Given the description of an element on the screen output the (x, y) to click on. 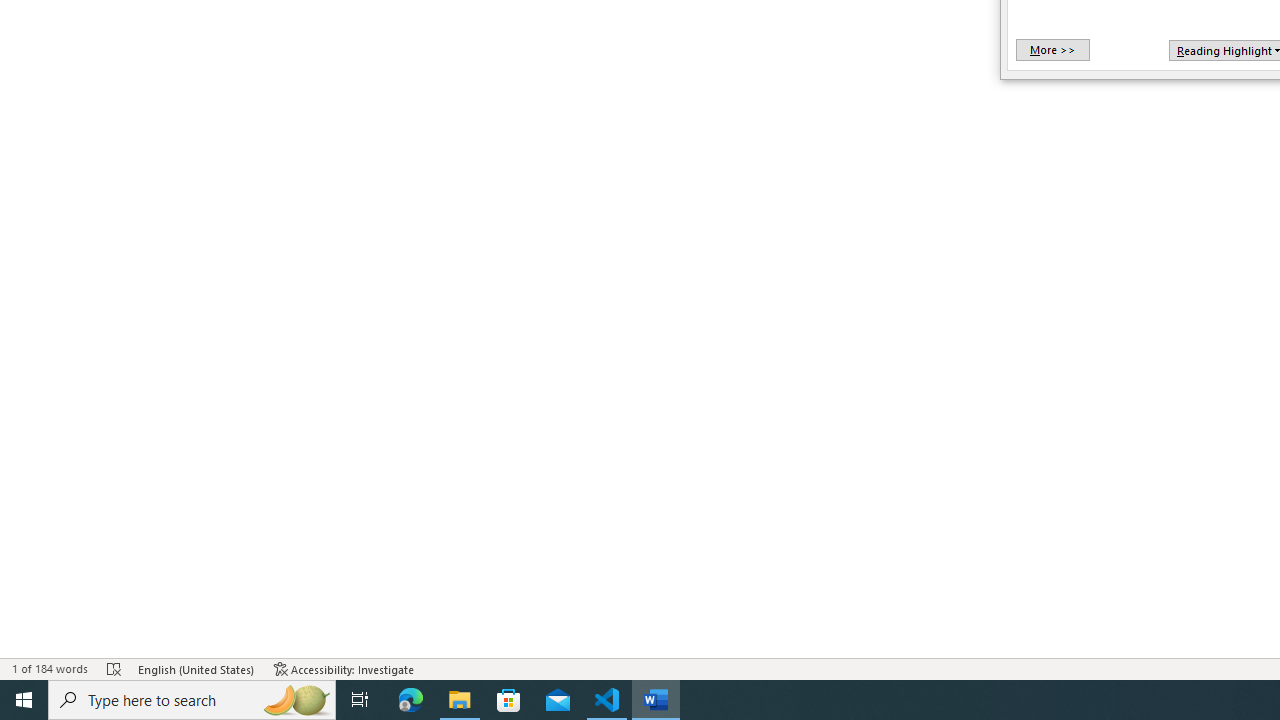
Word Count 1 of 184 words (49, 668)
